Given the description of an element on the screen output the (x, y) to click on. 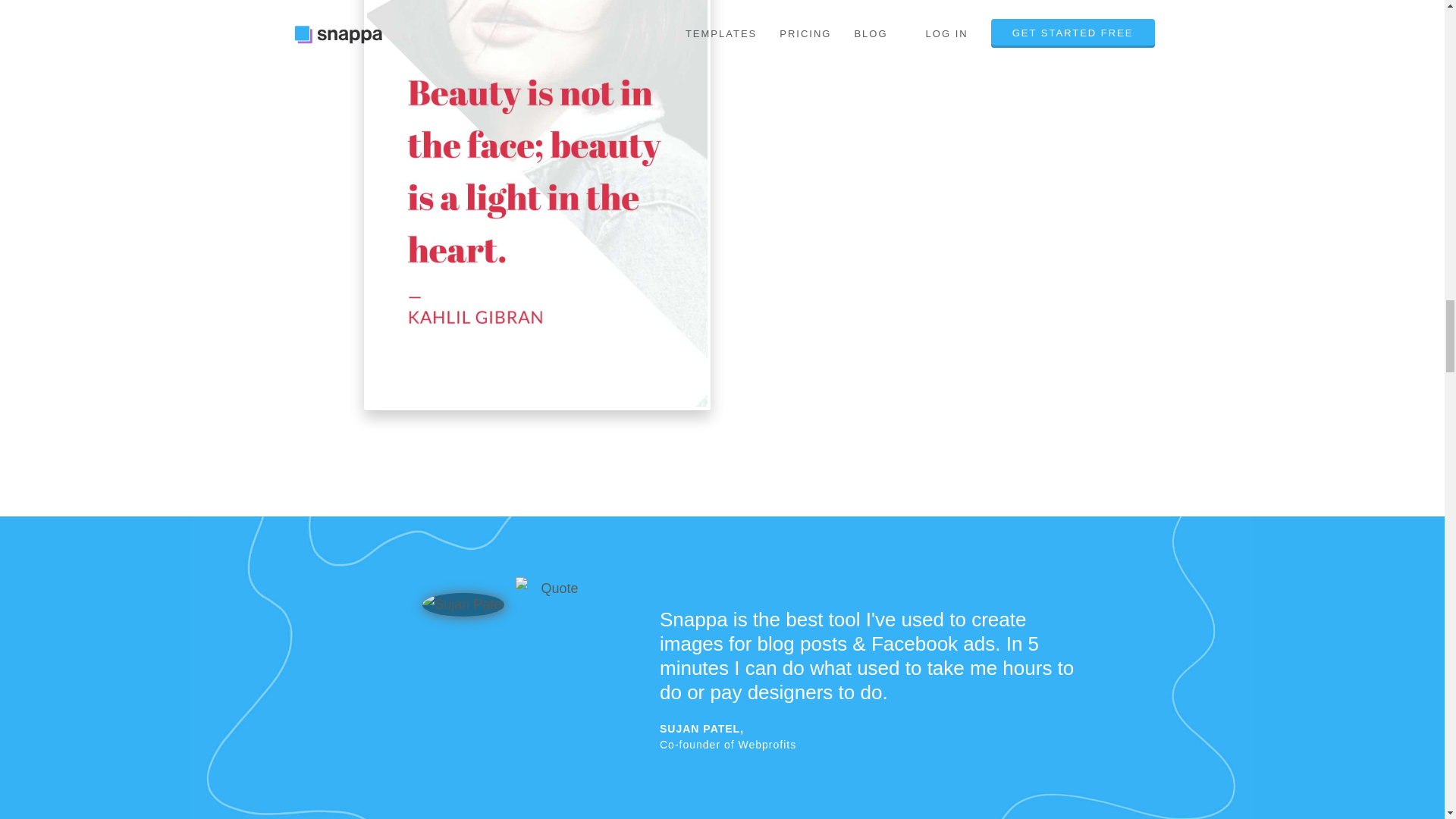
Webprofits (767, 744)
